Given the description of an element on the screen output the (x, y) to click on. 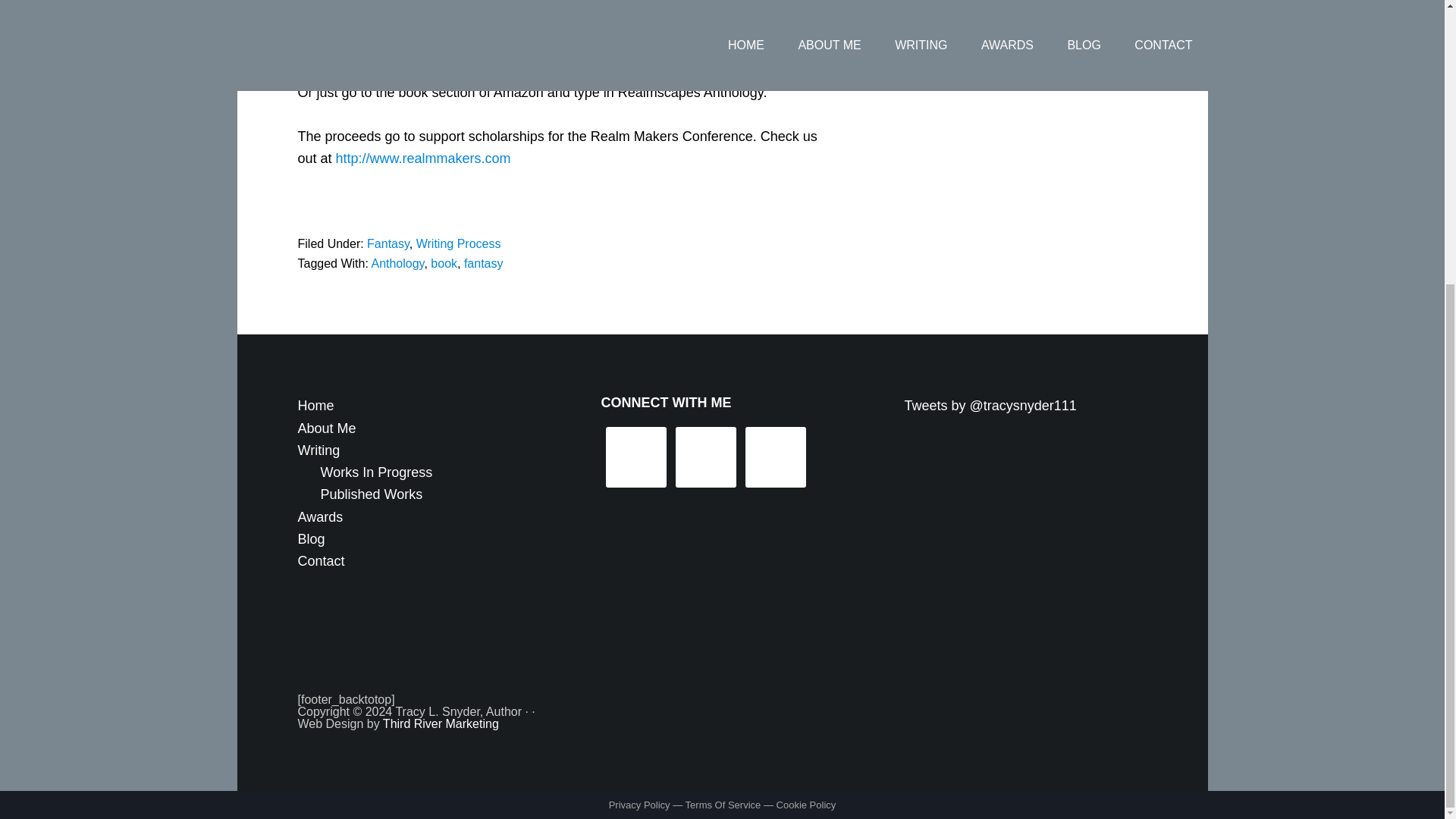
Home (315, 405)
Works In Progress (376, 472)
Writing Process (458, 243)
About Me (326, 427)
Blog (310, 539)
Contact (320, 560)
Realmscapes on Amazon (544, 48)
Writing (318, 450)
Awards (319, 516)
fantasy (483, 263)
